Given the description of an element on the screen output the (x, y) to click on. 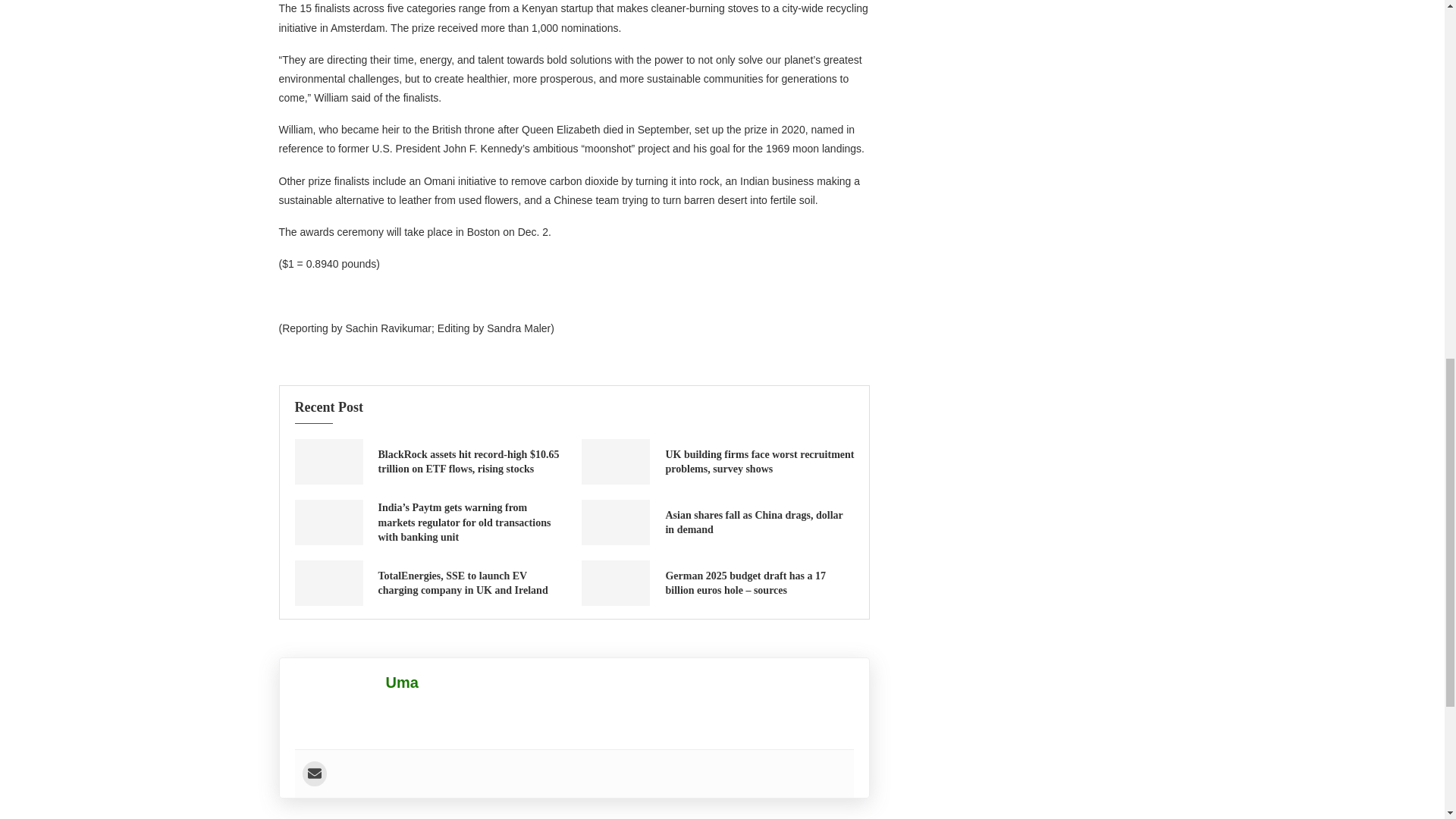
Asian shares fall as China drags, dollar in demand (614, 522)
Uma (401, 682)
Asian shares fall as China drags, dollar in demand (754, 522)
User email (313, 773)
